Given the description of an element on the screen output the (x, y) to click on. 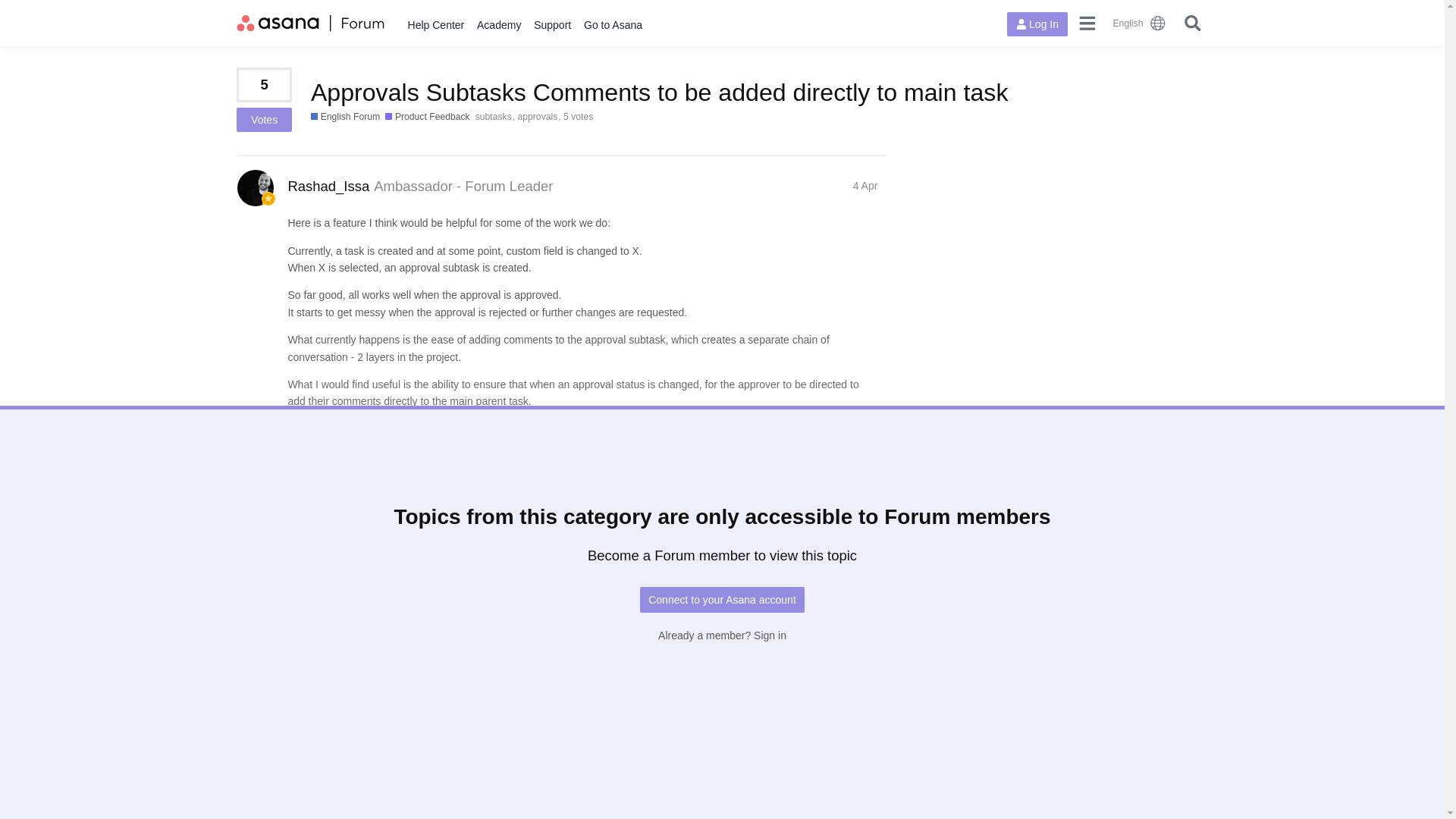
Go to Asana (613, 25)
Log In (1037, 24)
Please sign up or log in to like this post (841, 522)
subtasks (497, 116)
Votes (263, 119)
approvals (539, 116)
menu (1087, 22)
Ambassador - Forum Leader (463, 186)
international forums (1139, 22)
